Given the description of an element on the screen output the (x, y) to click on. 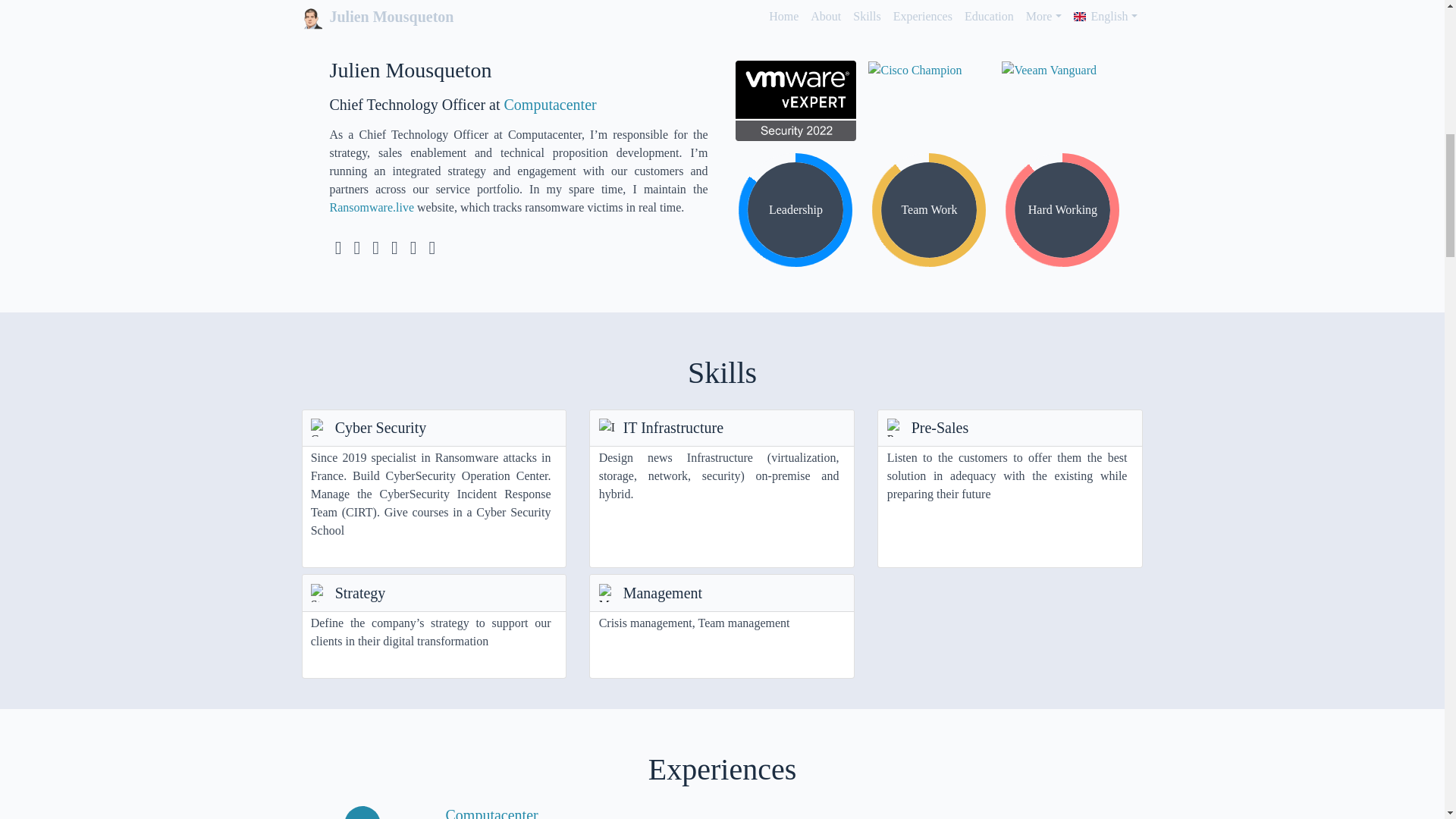
Computacenter (549, 104)
Computacenter (491, 812)
Ransomware.live (371, 206)
Computacenter (721, 626)
Computacenter (491, 812)
